Given the description of an element on the screen output the (x, y) to click on. 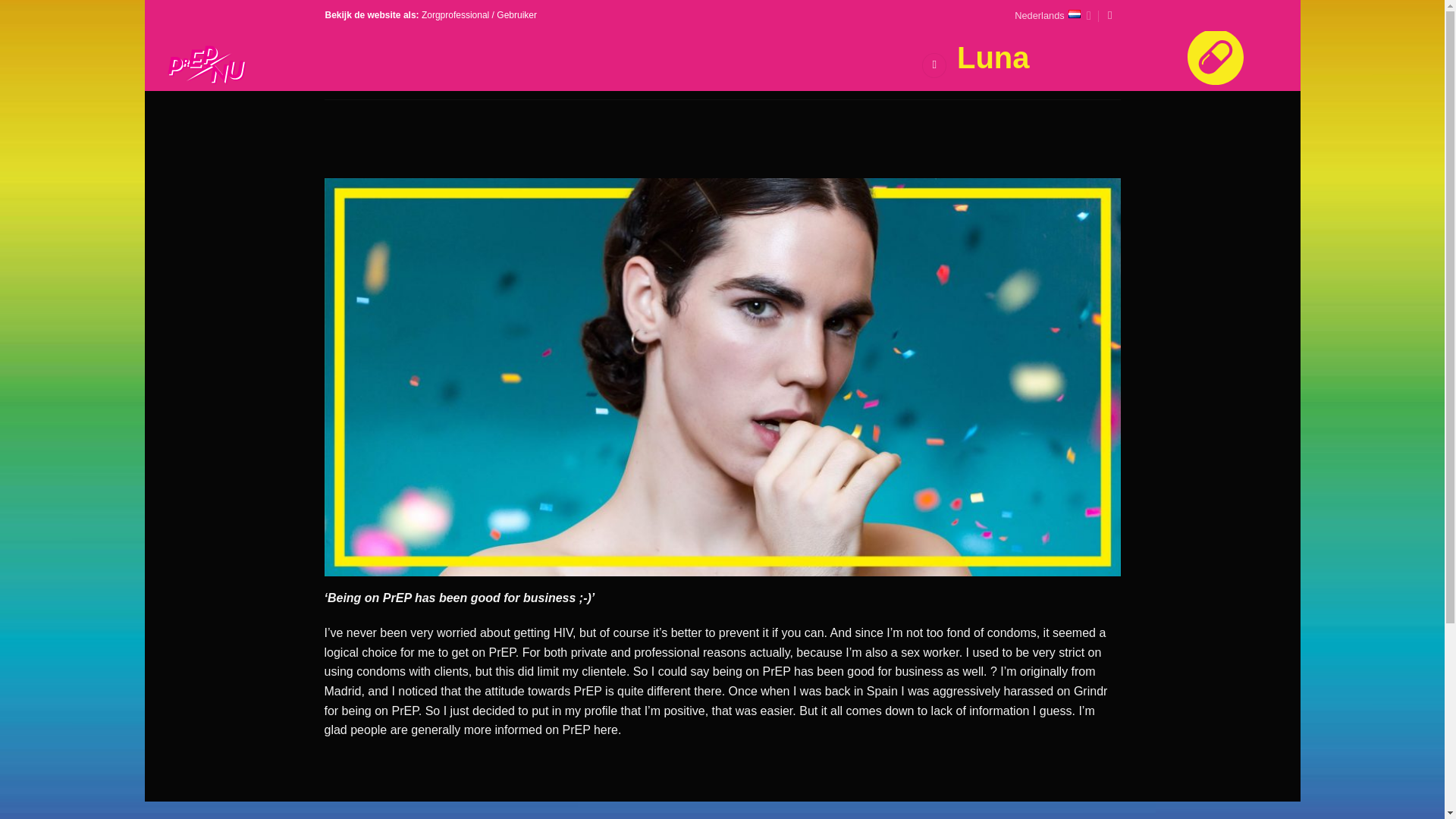
Gebruiker (516, 14)
Nederlands (1052, 15)
Zorgprofessional (455, 14)
PrEPnu - Ik slik, slik jij? (242, 64)
